Given the description of an element on the screen output the (x, y) to click on. 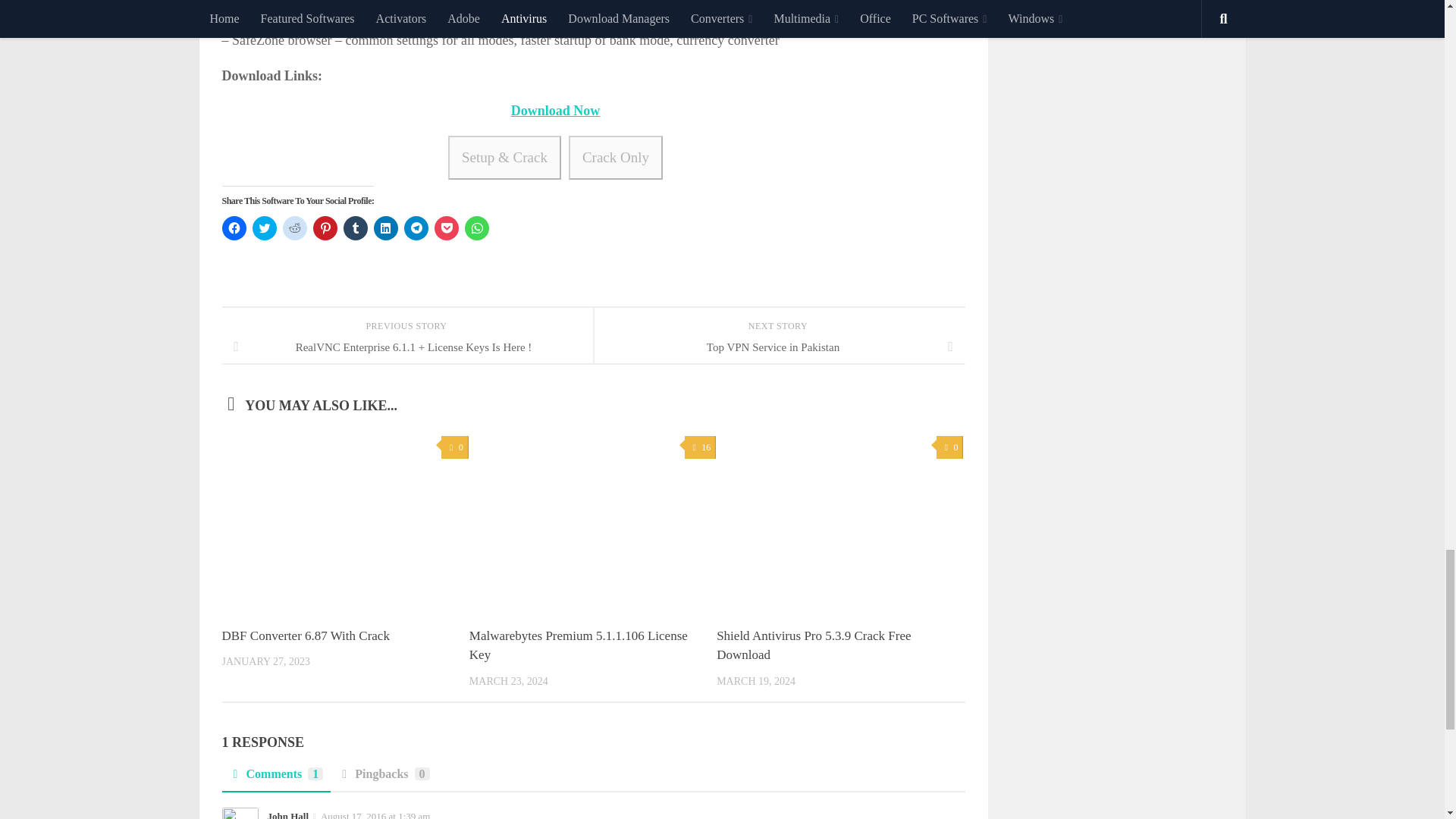
Click to share on Twitter (263, 228)
Click to share on Pocket (445, 228)
Click to share on LinkedIn (384, 228)
Click to share on WhatsApp (475, 228)
Click to share on Facebook (233, 228)
Click to share on Reddit (293, 228)
Click to share on Telegram (415, 228)
Click to share on Tumblr (354, 228)
Click to share on Pinterest (324, 228)
